Given the description of an element on the screen output the (x, y) to click on. 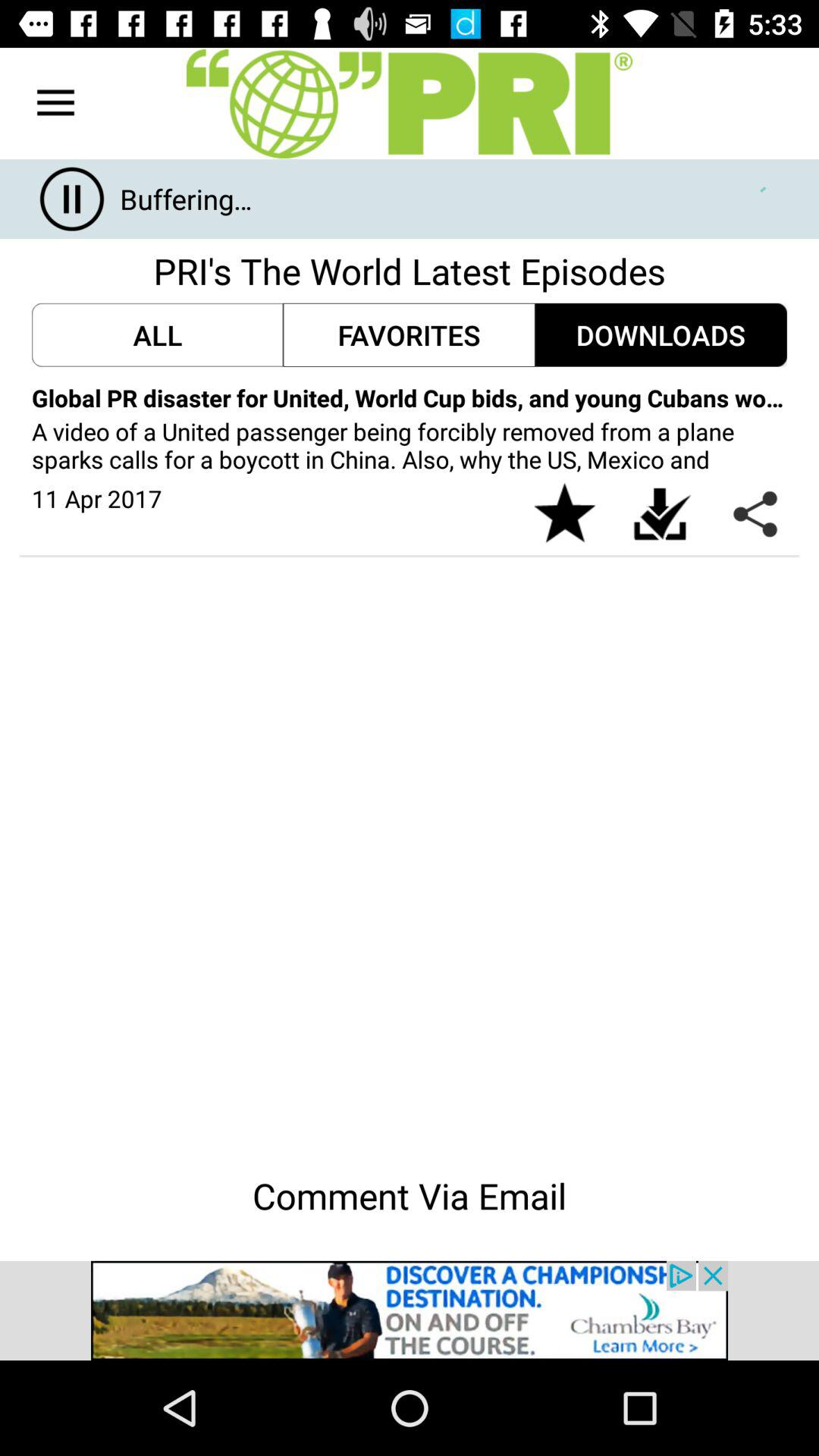
click advertisement (409, 1310)
